Given the description of an element on the screen output the (x, y) to click on. 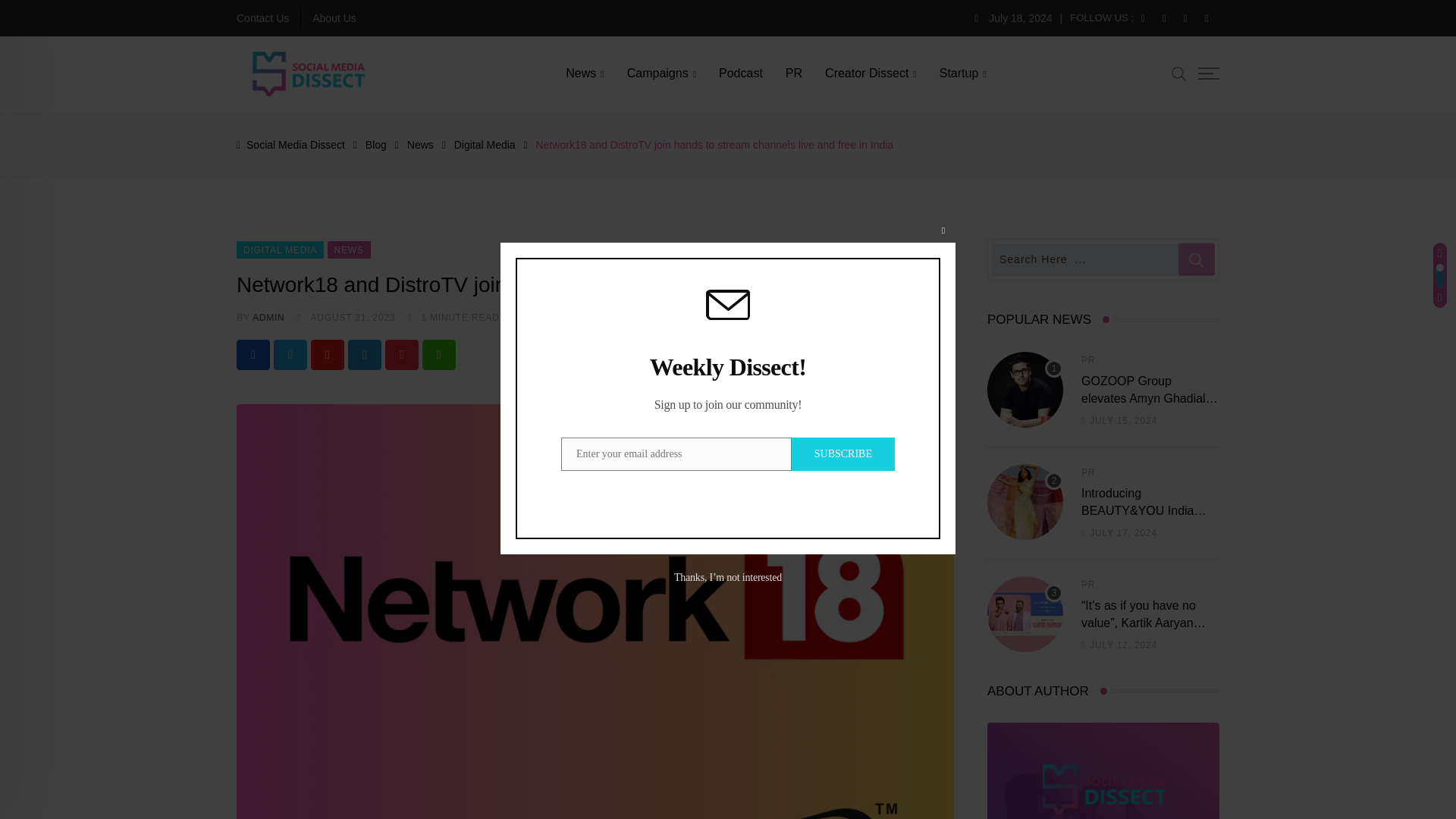
Creator Dissect (870, 73)
Go to Blog. (376, 144)
Go to the Digital Media category archives. (484, 144)
Contact Us (261, 18)
Campaigns (661, 73)
Search (1179, 73)
Go to the News category archives. (420, 144)
About Us (334, 18)
Go to Social Media Dissect. (295, 144)
Posts by Admin (268, 317)
Startup (962, 73)
Podcast (740, 73)
